Given the description of an element on the screen output the (x, y) to click on. 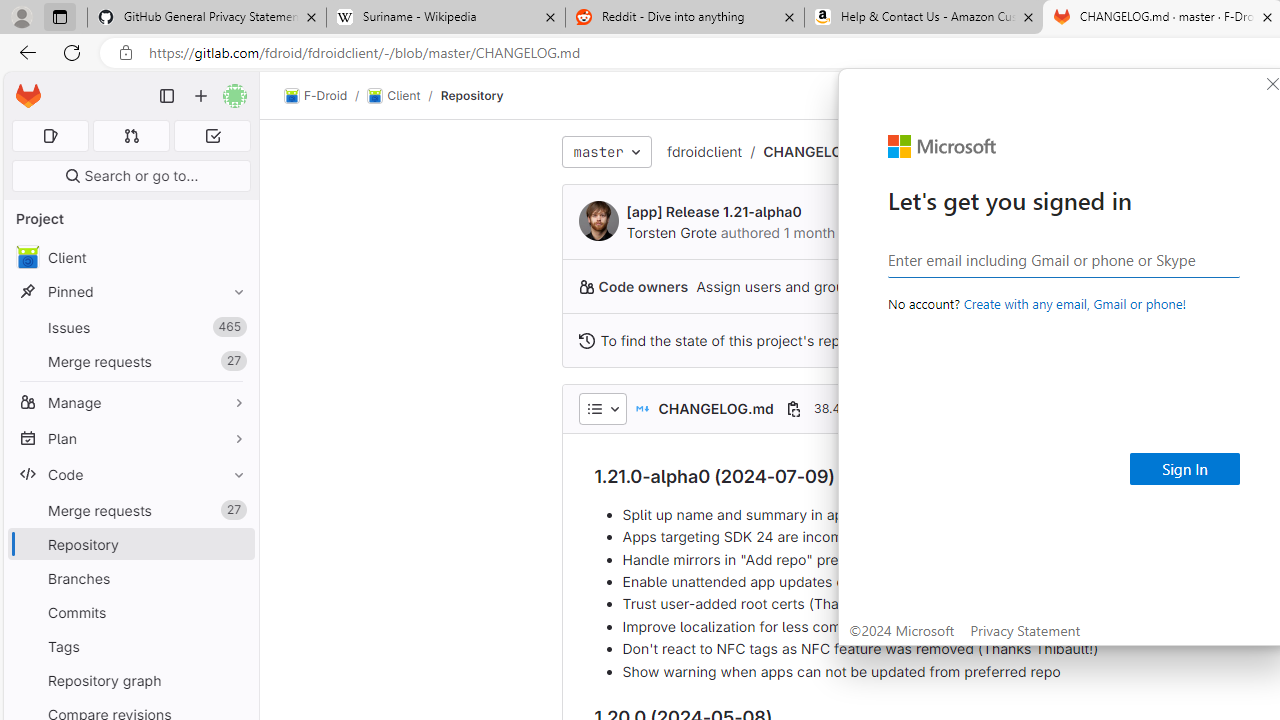
Class: s16 gl-mr-1 gl-align-text-bottom (586, 340)
Torsten Grote (670, 232)
Manage (130, 402)
Create with any email, Gmail or phone! (1074, 303)
To-Do list 0 (212, 136)
View site information (125, 53)
Back (24, 52)
Repository graph (130, 679)
Tags (130, 646)
GitHub General Privacy Statement - GitHub Docs (207, 17)
Manage (130, 402)
Enter email including Gmail or phone or Skype (1064, 259)
Repository (472, 95)
Tab actions menu (59, 16)
